Given the description of an element on the screen output the (x, y) to click on. 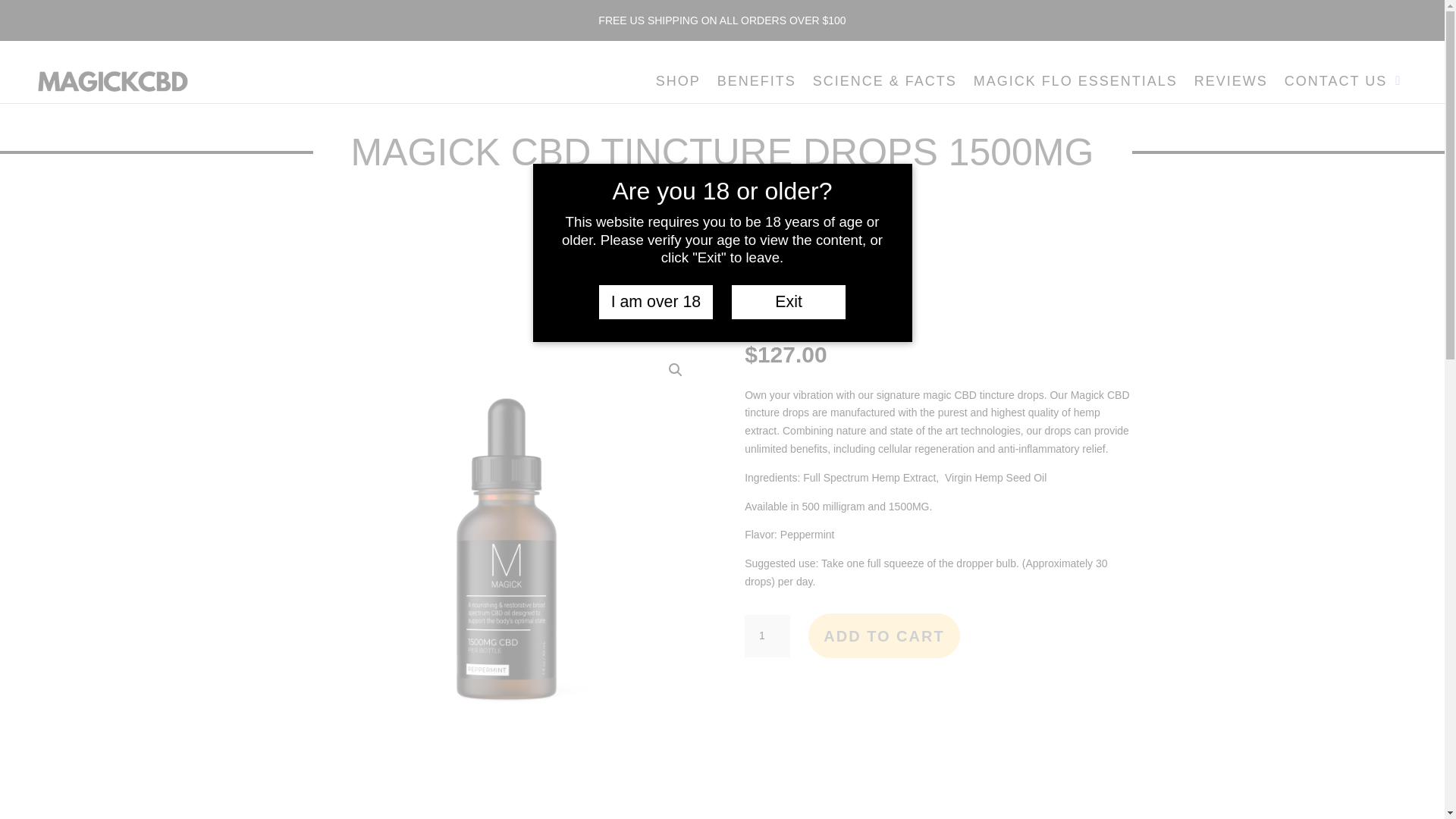
SHOP (678, 84)
BENEFITS (756, 84)
MAGICK FLO ESSENTIALS (1075, 84)
ADD TO CART (883, 635)
CONTACT US (1335, 84)
1 (767, 636)
REVIEWS (1230, 84)
I am over 18 (655, 302)
magiccbd-black (111, 82)
